Given the description of an element on the screen output the (x, y) to click on. 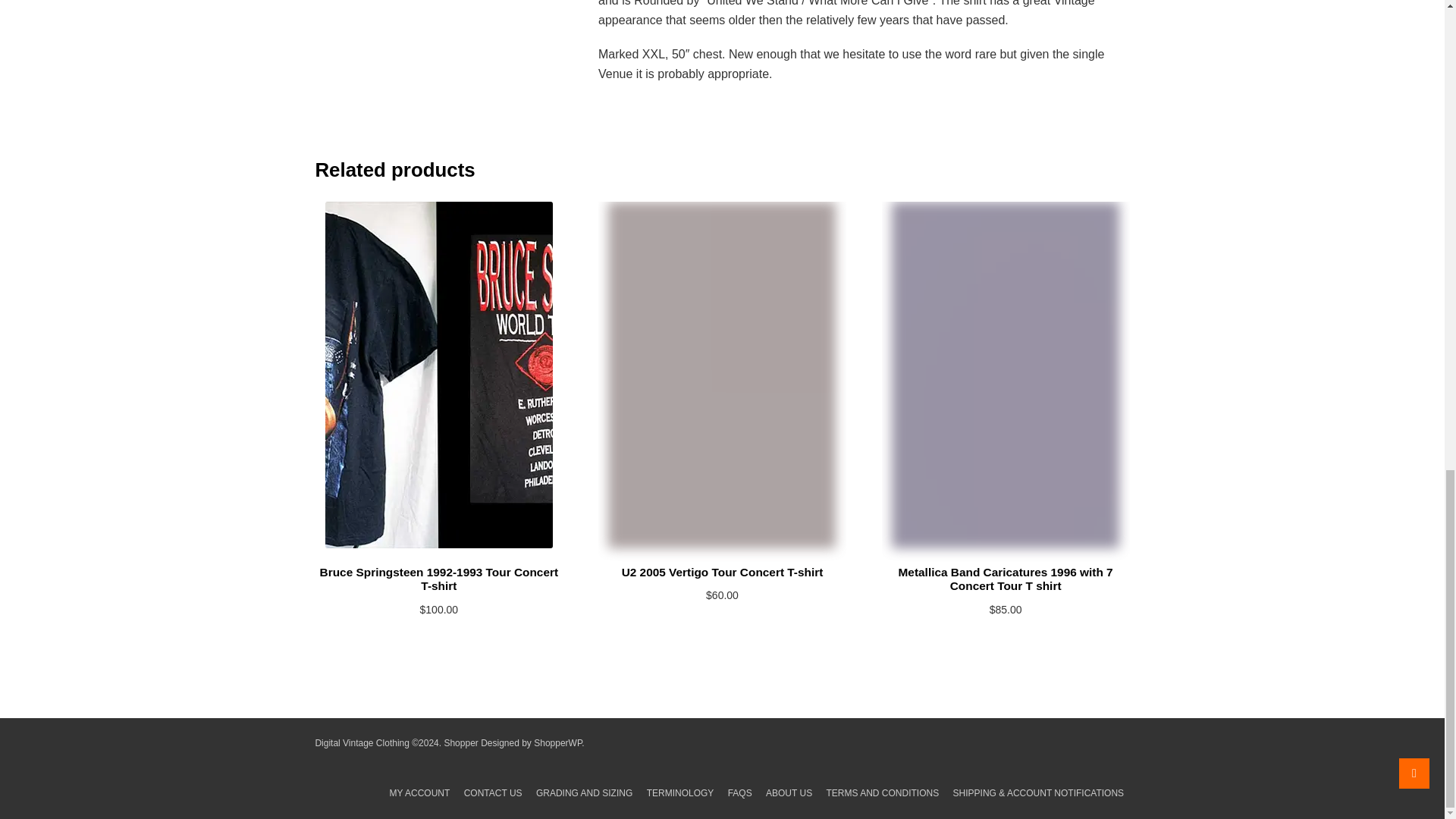
Shopper (460, 742)
Shopper - The Best Free WooCommerce for WordPress (557, 742)
